Given the description of an element on the screen output the (x, y) to click on. 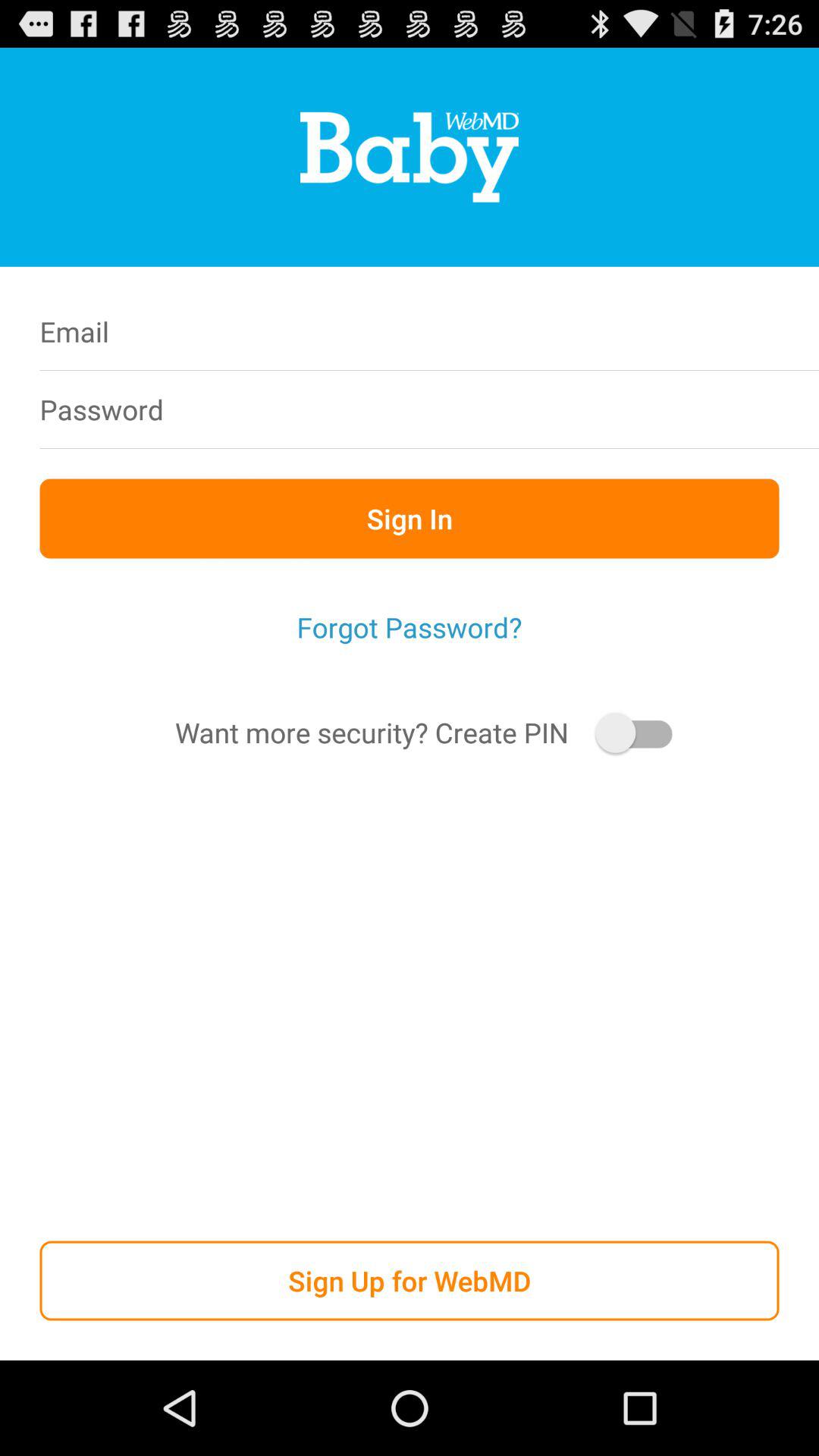
launch forgot password? item (409, 627)
